Given the description of an element on the screen output the (x, y) to click on. 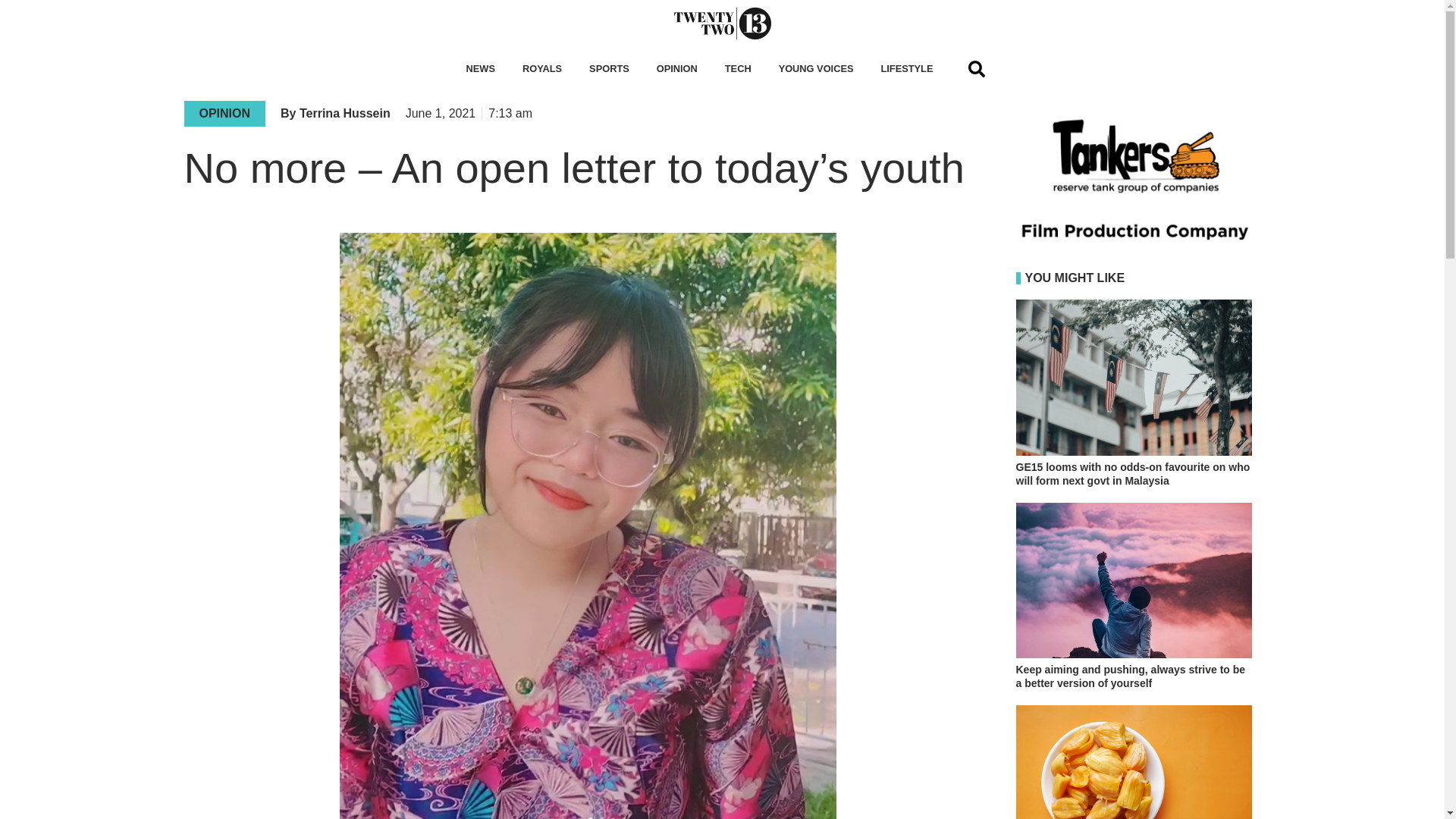
OPINION (677, 68)
ROYALS (541, 68)
SPORTS (609, 68)
LIFESTYLE (906, 68)
YOUNG VOICES (816, 68)
TECH (738, 68)
NEWS (480, 68)
